Given the description of an element on the screen output the (x, y) to click on. 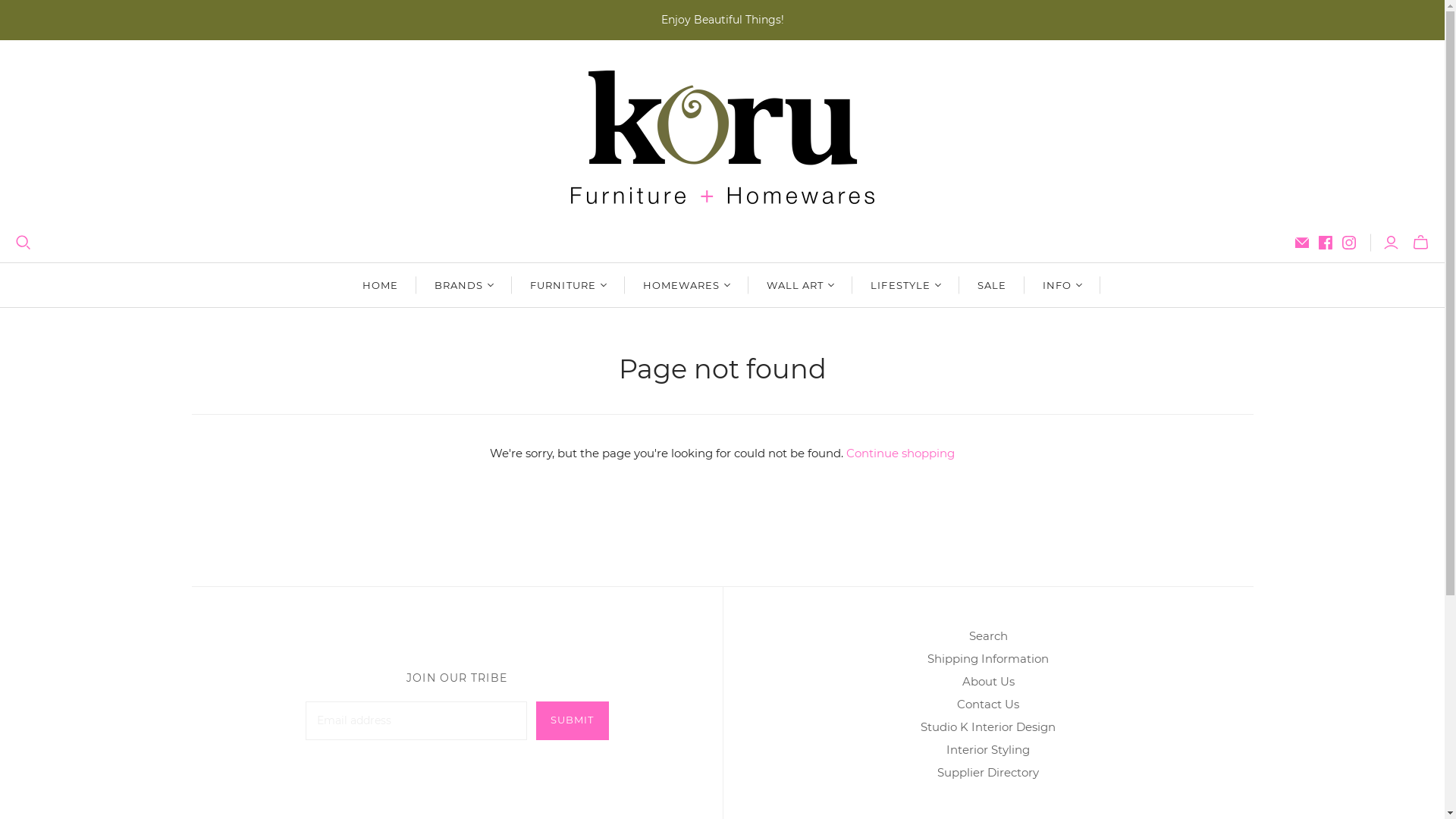
SUBMIT Element type: text (572, 720)
HOME Element type: text (380, 285)
Interior Styling Element type: text (987, 749)
Enjoy Beautiful Things! Element type: text (722, 20)
Shipping Information Element type: text (987, 658)
Contact Us Element type: text (988, 703)
SALE Element type: text (991, 285)
Supplier Directory Element type: text (987, 772)
Search Element type: text (988, 635)
About Us Element type: text (987, 681)
Continue shopping Element type: text (900, 452)
Studio K Interior Design Element type: text (987, 726)
